Given the description of an element on the screen output the (x, y) to click on. 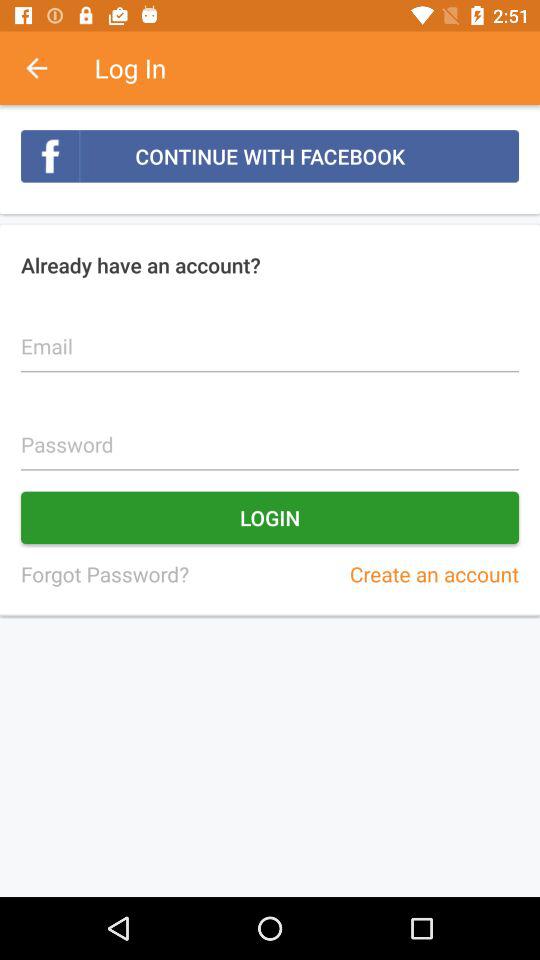
click item above the continue with facebook icon (47, 68)
